Given the description of an element on the screen output the (x, y) to click on. 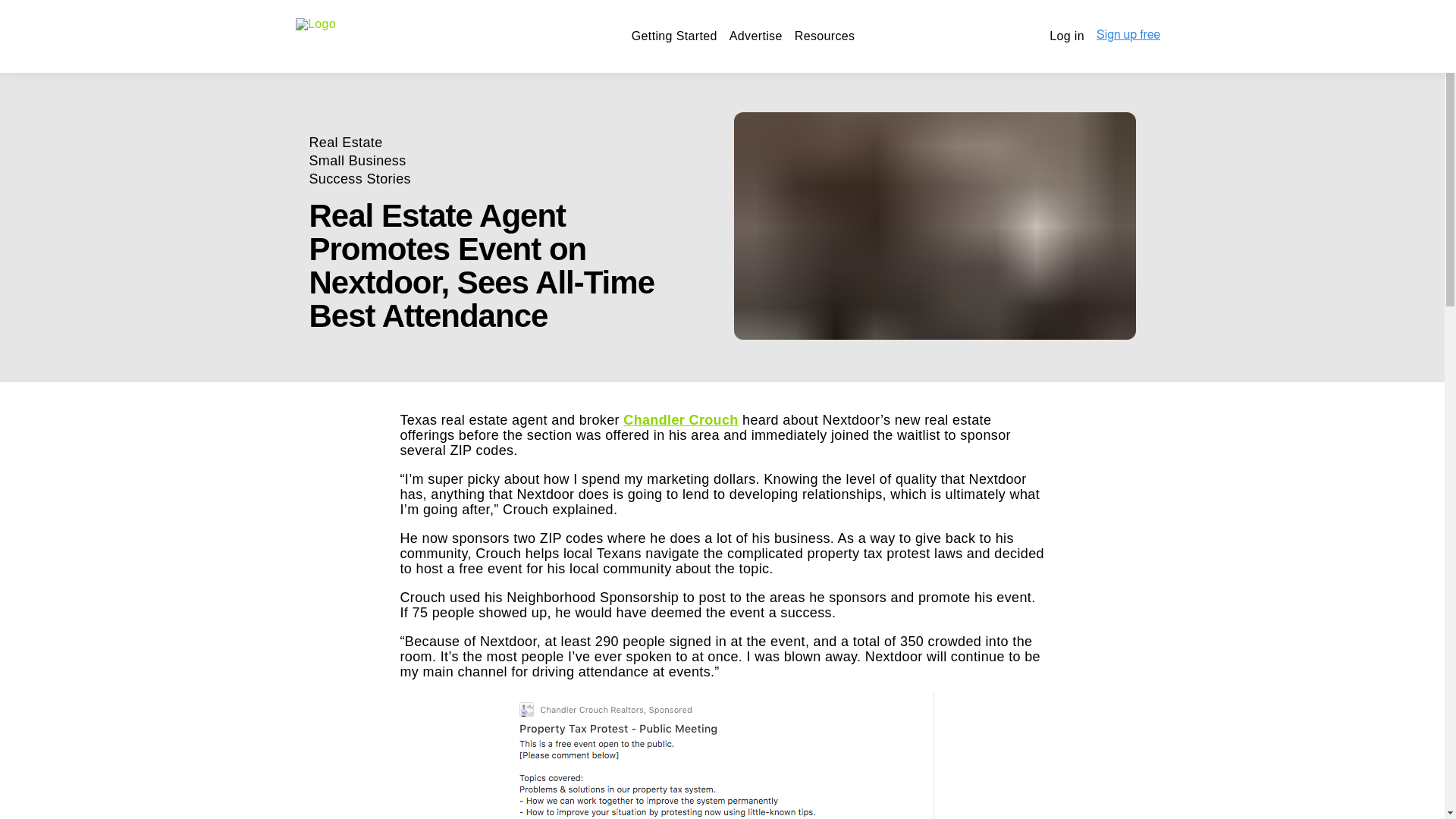
Advertise (756, 35)
Log in (1066, 35)
Resources (825, 35)
Chandler Crouch (680, 419)
Getting Started (674, 35)
